Given the description of an element on the screen output the (x, y) to click on. 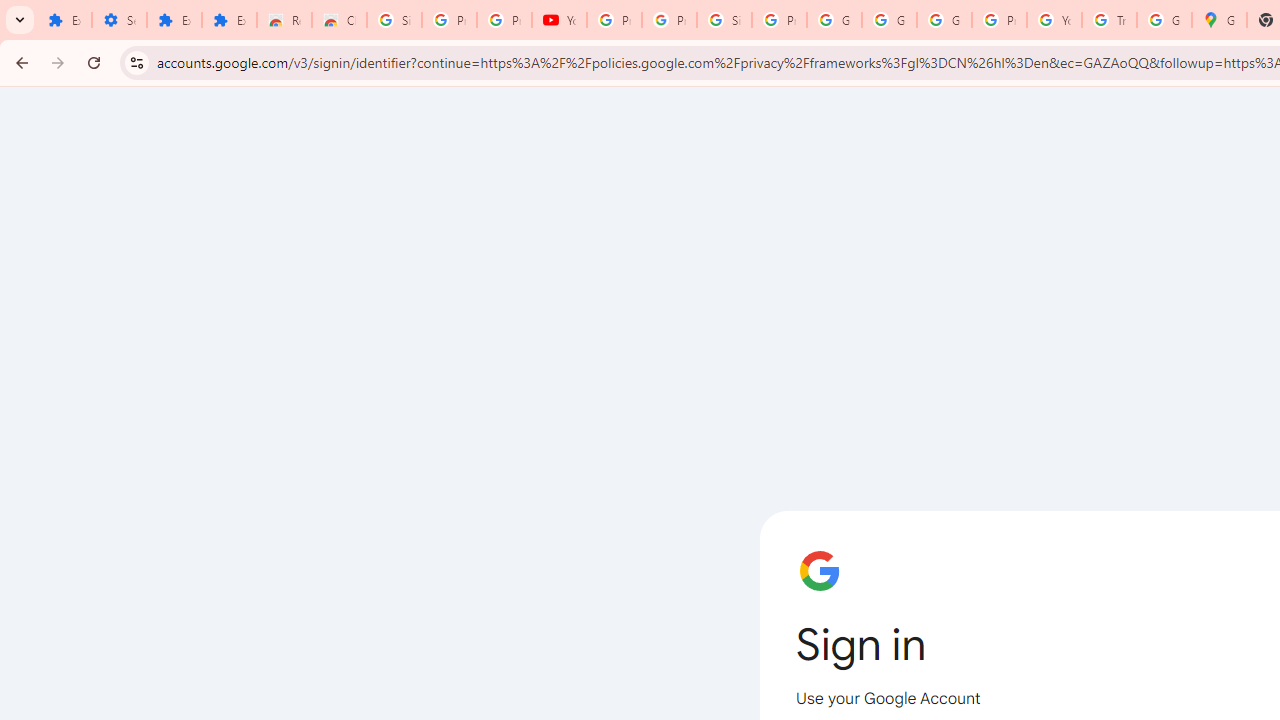
Extensions (229, 20)
Google Maps (1218, 20)
Extensions (174, 20)
YouTube (1053, 20)
Chrome Web Store - Themes (339, 20)
